Given the description of an element on the screen output the (x, y) to click on. 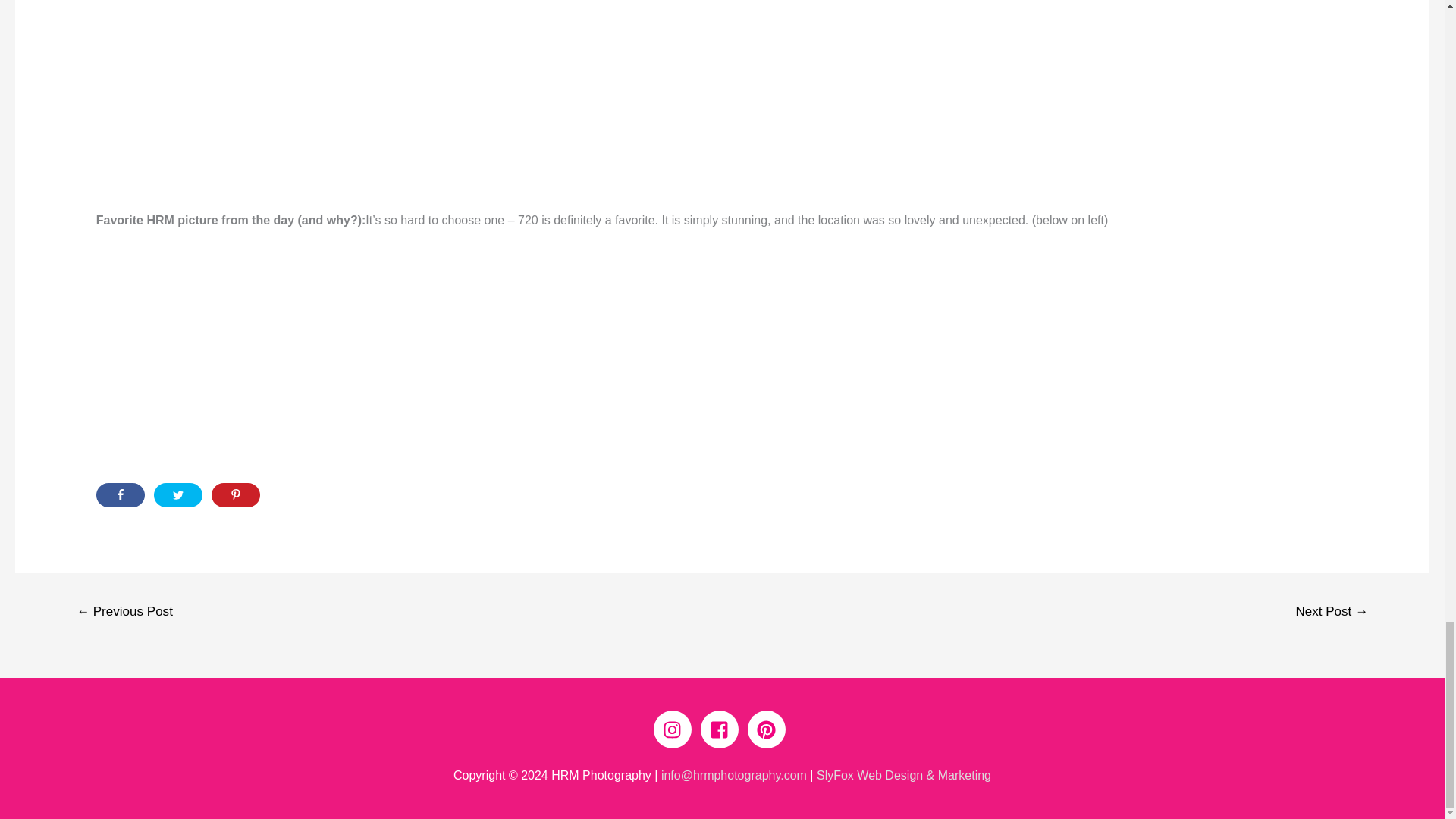
Share on Pinterest (235, 494)
Share on Facebook (120, 494)
Share on Twitter (178, 494)
